Given the description of an element on the screen output the (x, y) to click on. 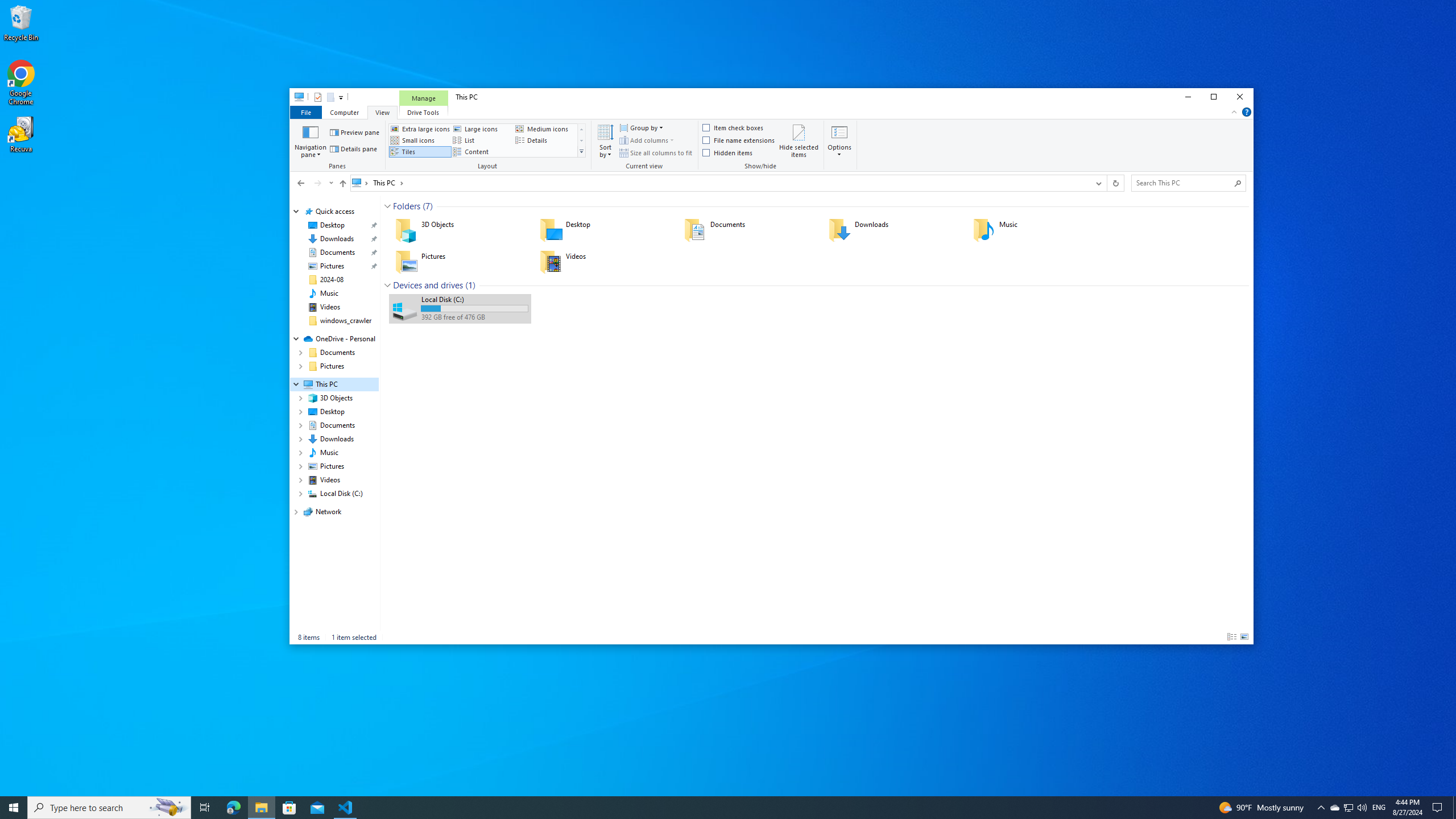
Music (1037, 229)
Name (474, 299)
Details (1231, 636)
Documents (pinned) (337, 252)
Videos (329, 306)
Forward (Alt + Right Arrow) (317, 182)
Manage (423, 97)
Properties (317, 96)
Customize Quick Access Toolbar (341, 96)
